Given the description of an element on the screen output the (x, y) to click on. 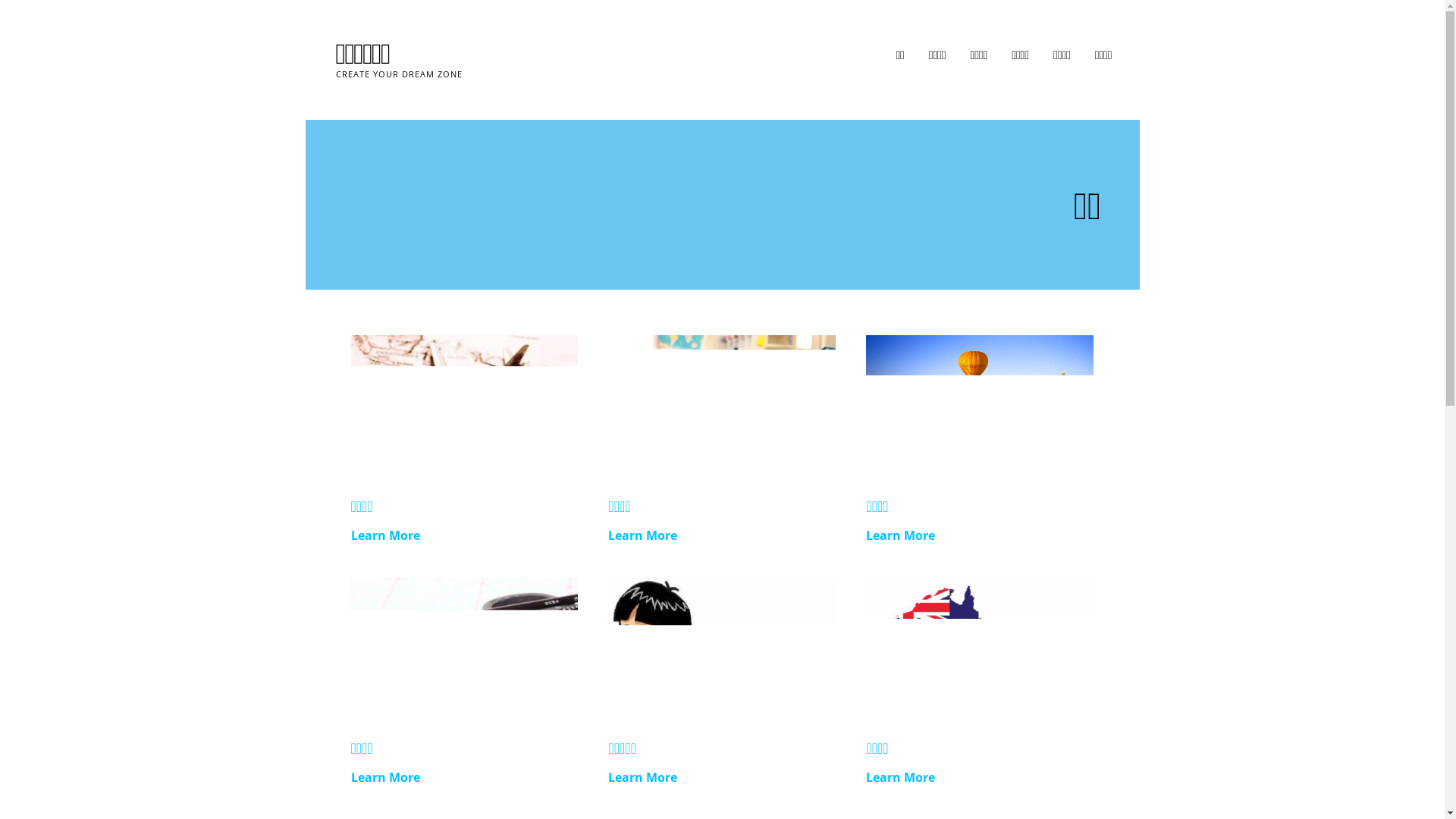
222 Element type: hover (463, 403)
Learn More Element type: text (463, 777)
1 Element type: hover (979, 403)
u=3458907846,1068361127&fm=26&gp=01 Element type: hover (721, 645)
u=3888541812,826868966&fm=26&gp=0 Element type: hover (721, 403)
Learn More Element type: text (463, 535)
Learn More Element type: text (979, 777)
Learn More Element type: text (979, 535)
u=332448683,861340262&fm=26&gp=01 Element type: hover (979, 645)
Learn More Element type: text (721, 535)
u=216581575,1531392784&fm=26&gp=0 Element type: hover (463, 645)
Learn More Element type: text (721, 777)
